Given the description of an element on the screen output the (x, y) to click on. 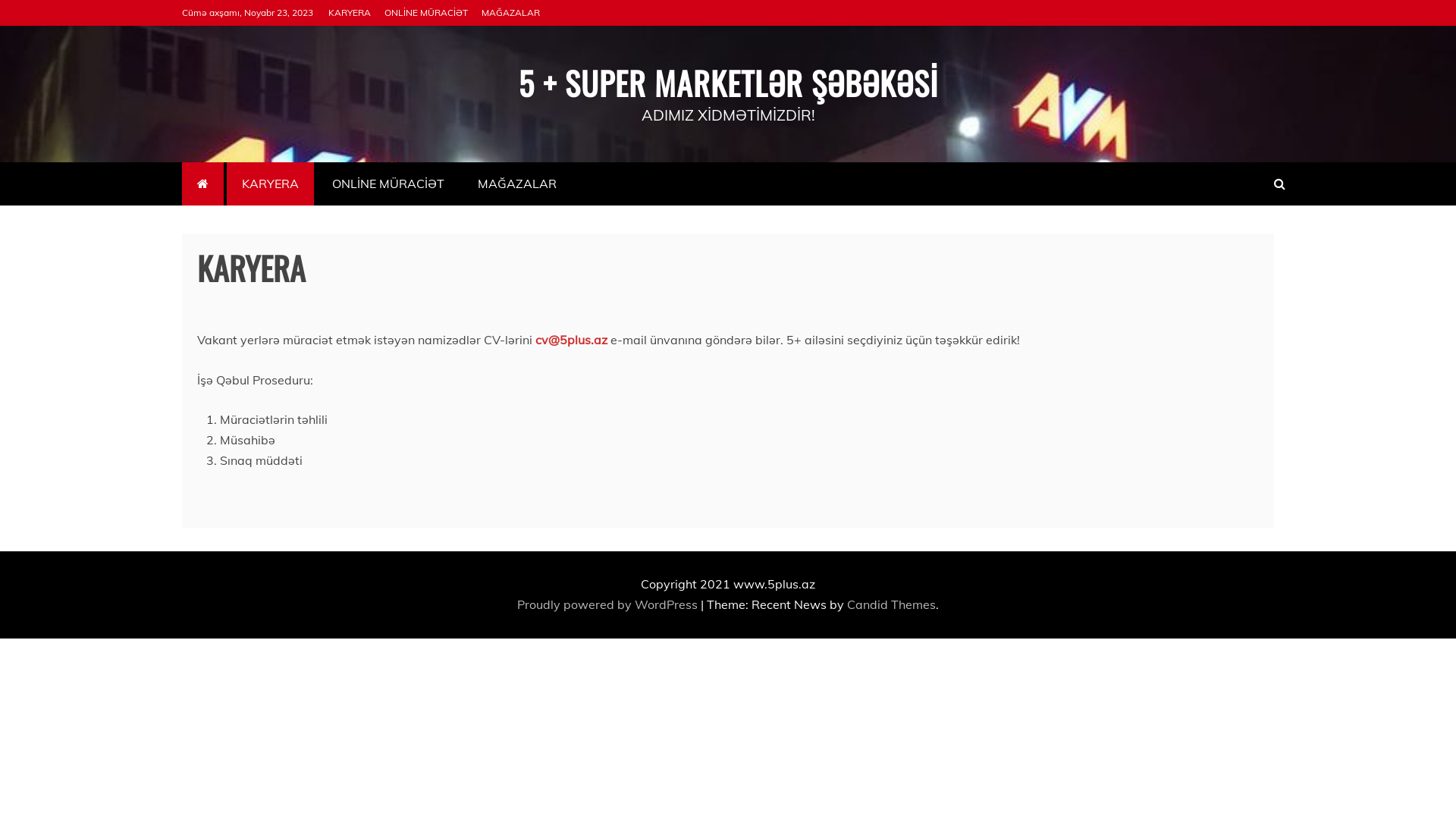
KARYERA Element type: text (269, 183)
Proudly powered by WordPress Element type: text (608, 603)
Candid Themes Element type: text (891, 603)
KARYERA Element type: text (349, 12)
